Given the description of an element on the screen output the (x, y) to click on. 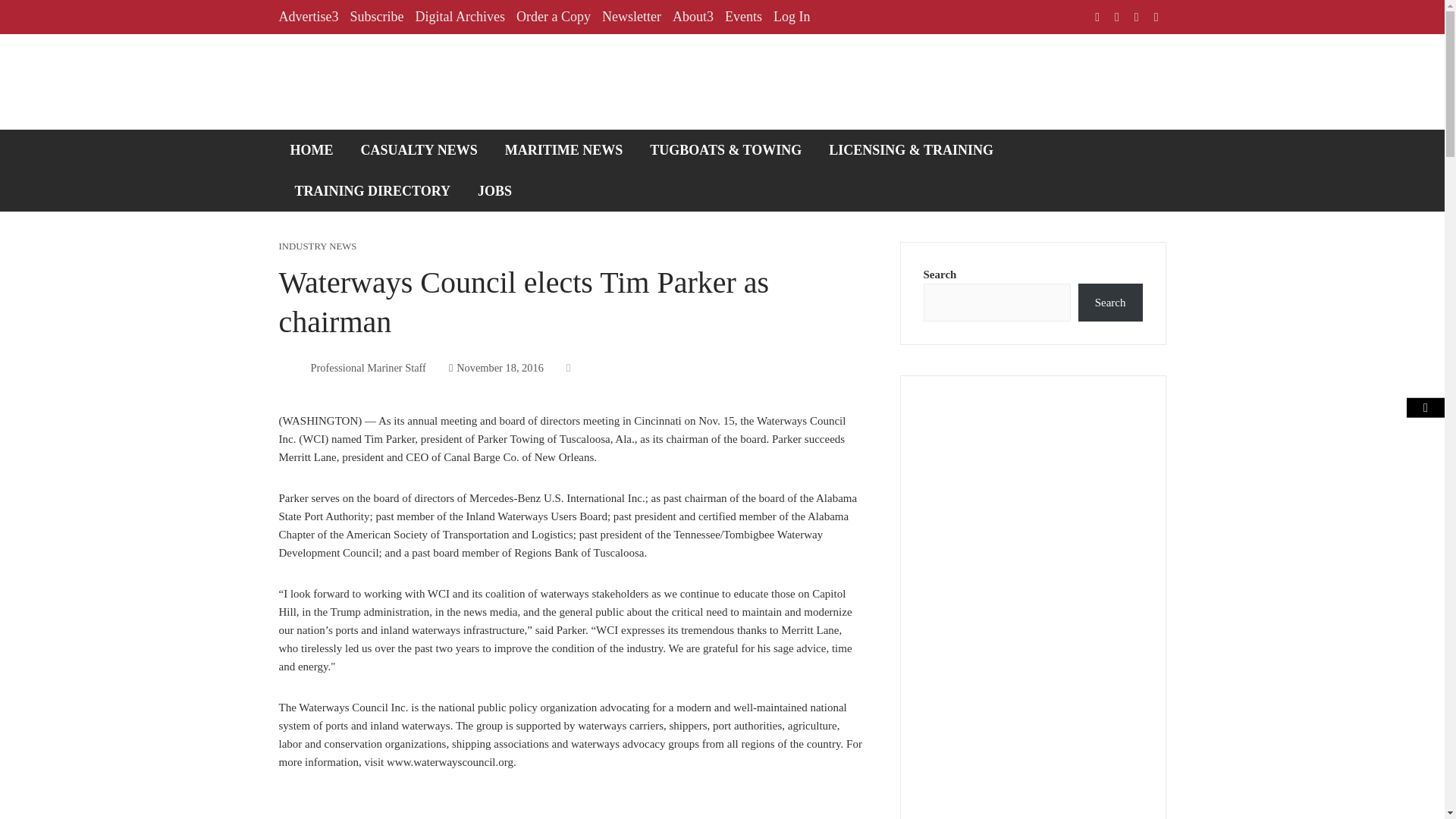
Events (743, 17)
MARITIME NEWS (563, 149)
Digital Archives (458, 17)
Newsletter (631, 17)
CASUALTY NEWS (418, 149)
TRAINING DIRECTORY (373, 190)
JOBS (493, 190)
HOME (312, 149)
About (692, 17)
Advertise (309, 17)
